Given the description of an element on the screen output the (x, y) to click on. 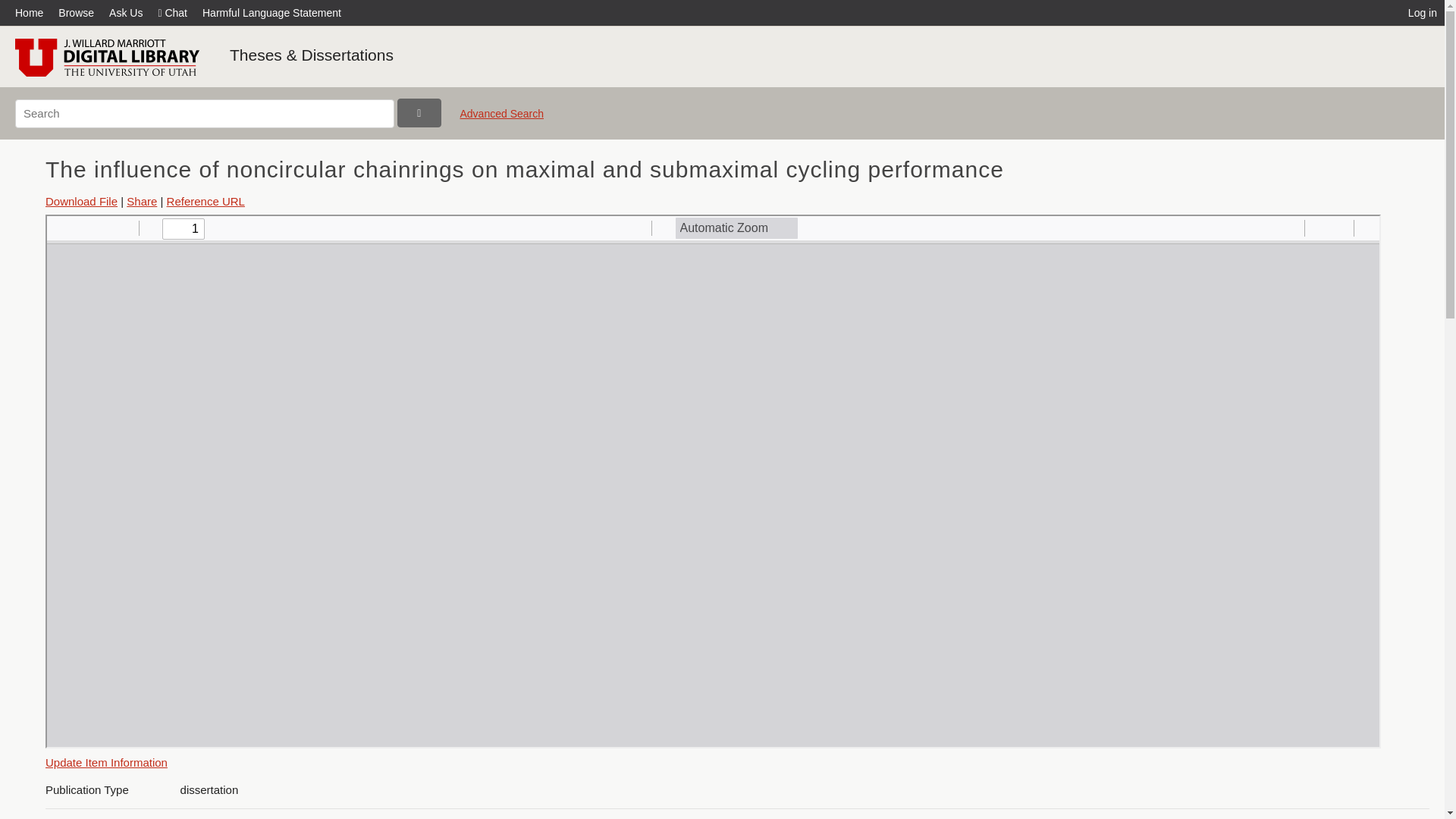
Share (141, 201)
Download File (81, 201)
Home (32, 12)
Share (141, 201)
Ask Us (125, 12)
Advanced Search (501, 119)
Browse (75, 12)
Chat (172, 12)
Update Item Information (106, 762)
Reference URL (205, 201)
Reference URL (205, 201)
Harmful Language Statement (272, 12)
Download - 1.05M (81, 201)
